Given the description of an element on the screen output the (x, y) to click on. 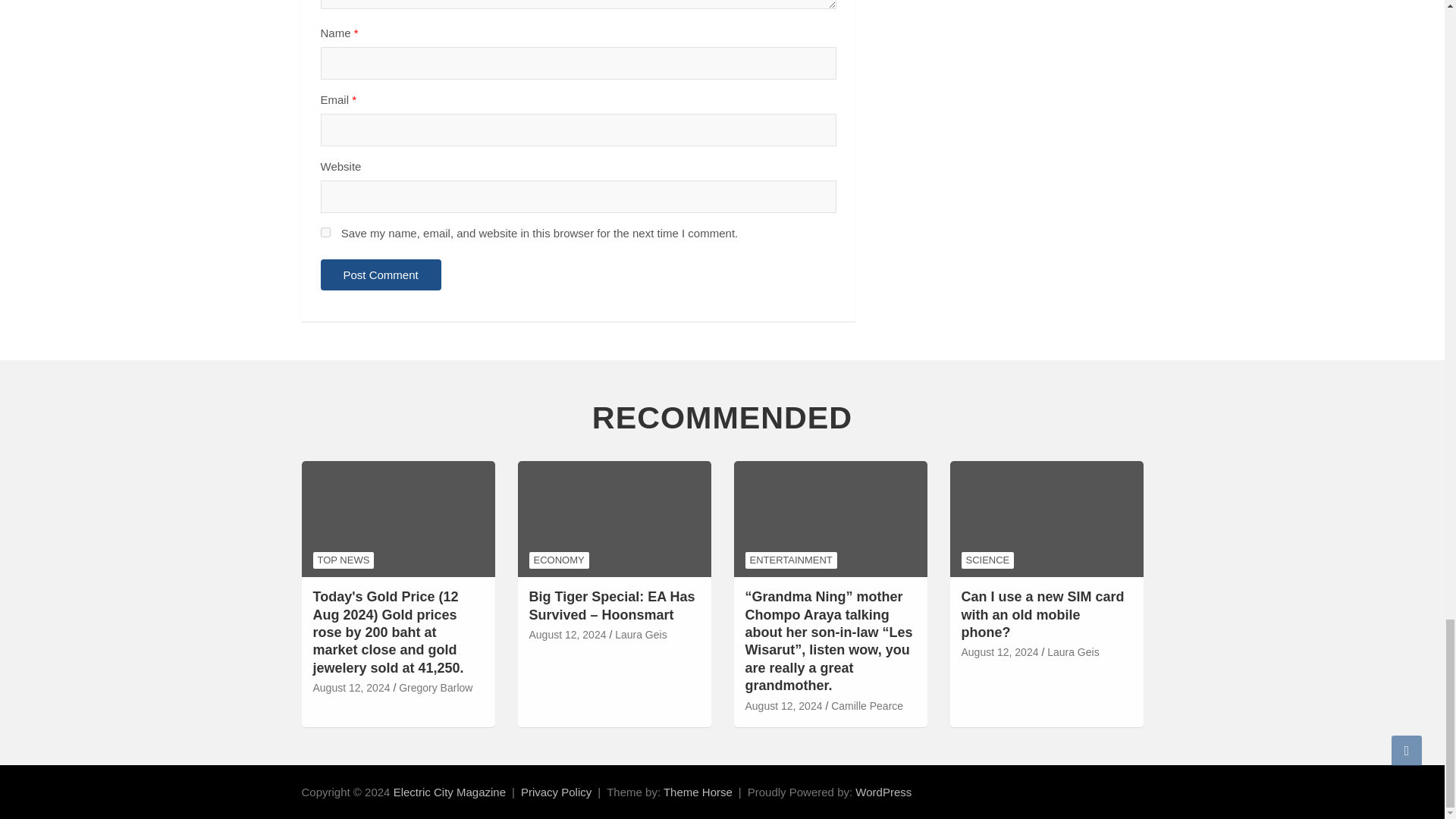
Post Comment (380, 274)
WordPress (883, 791)
Theme Horse (697, 791)
yes (325, 232)
Post Comment (380, 274)
August 12, 2024 (351, 688)
TOP NEWS (343, 560)
Electric City Magazine (449, 791)
Can I use a new SIM card with an old mobile phone? (999, 652)
